Given the description of an element on the screen output the (x, y) to click on. 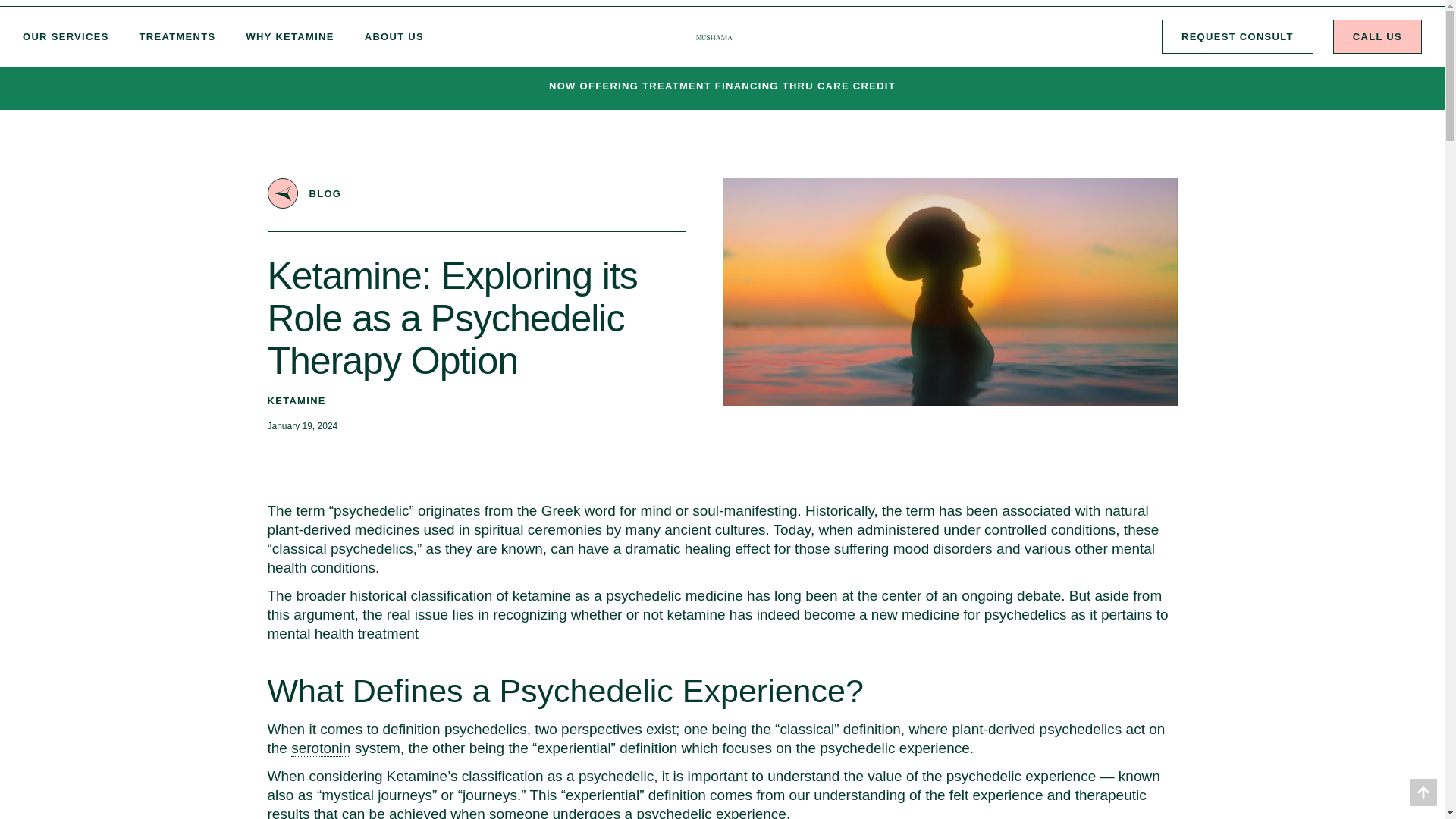
OUR SERVICES (65, 36)
ABOUT US (394, 36)
TREATMENTS (177, 36)
WHY KETAMINE (289, 36)
